Given the description of an element on the screen output the (x, y) to click on. 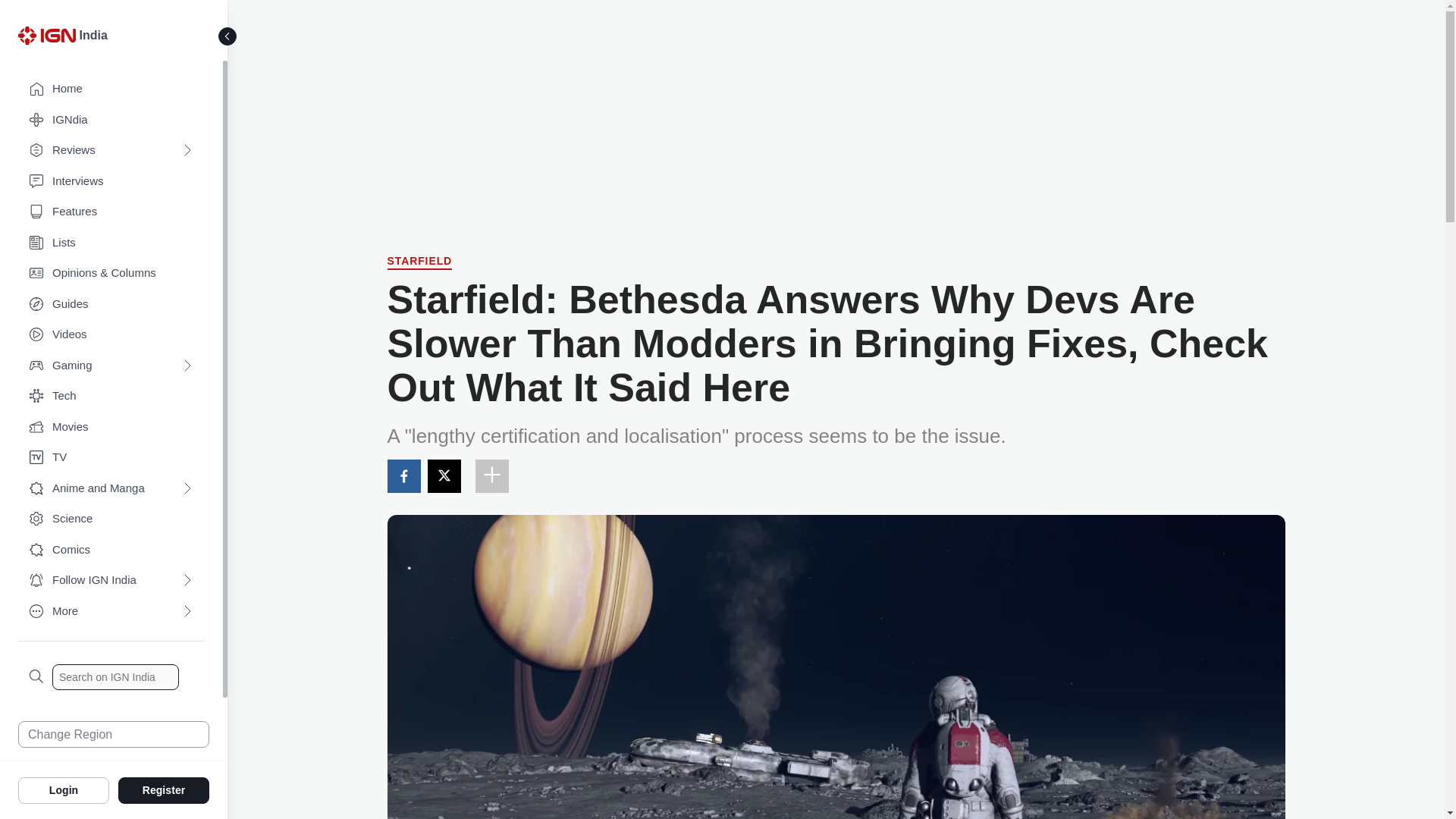
Anime and Manga (111, 487)
Follow IGN India (111, 580)
TV (111, 457)
Toggle Sidebar (226, 36)
Interviews (111, 181)
Science (111, 518)
IGNdia (111, 119)
Comics (111, 550)
Tech (111, 396)
Gaming (111, 365)
